Given the description of an element on the screen output the (x, y) to click on. 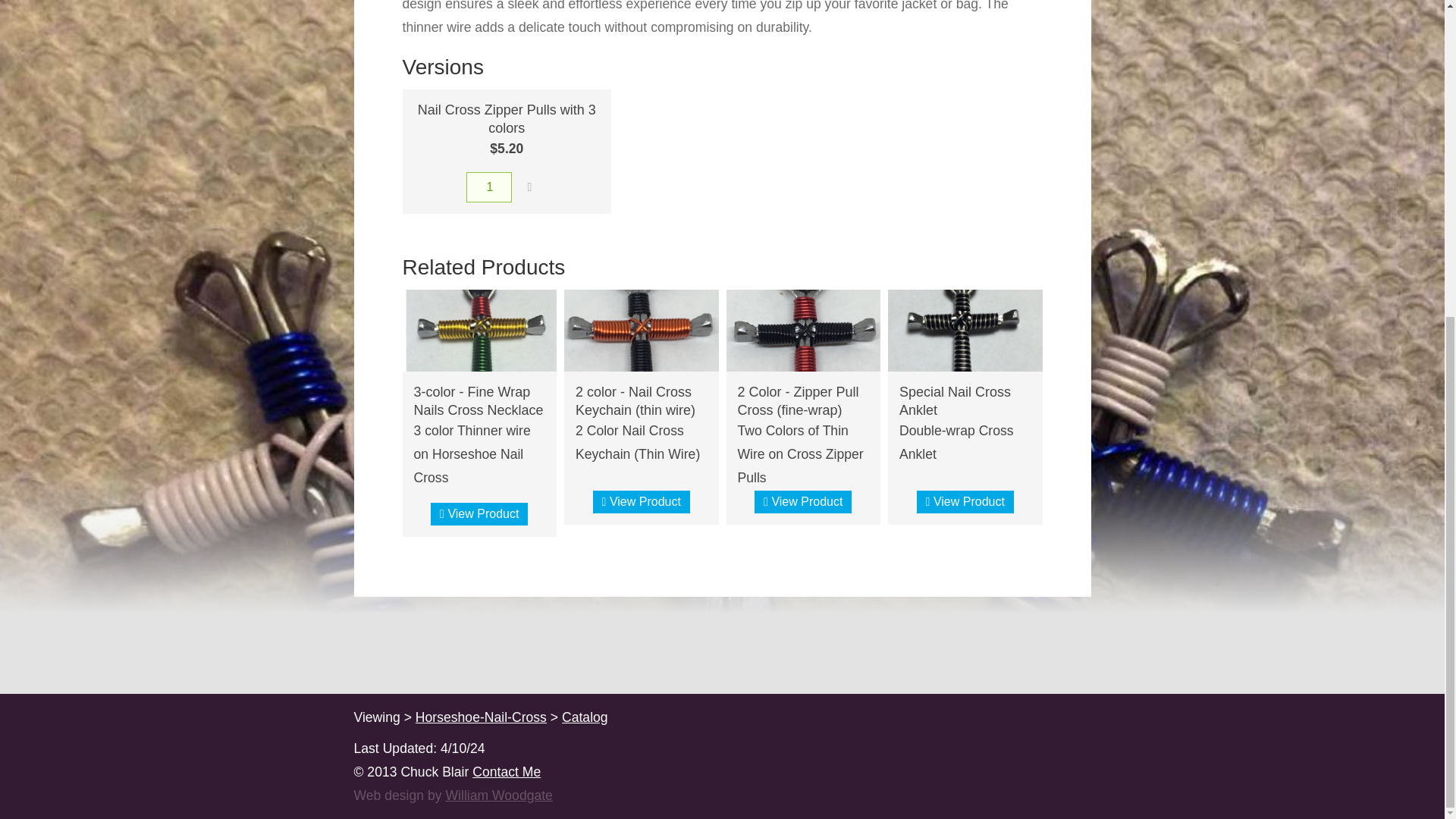
1 (488, 186)
